Given the description of an element on the screen output the (x, y) to click on. 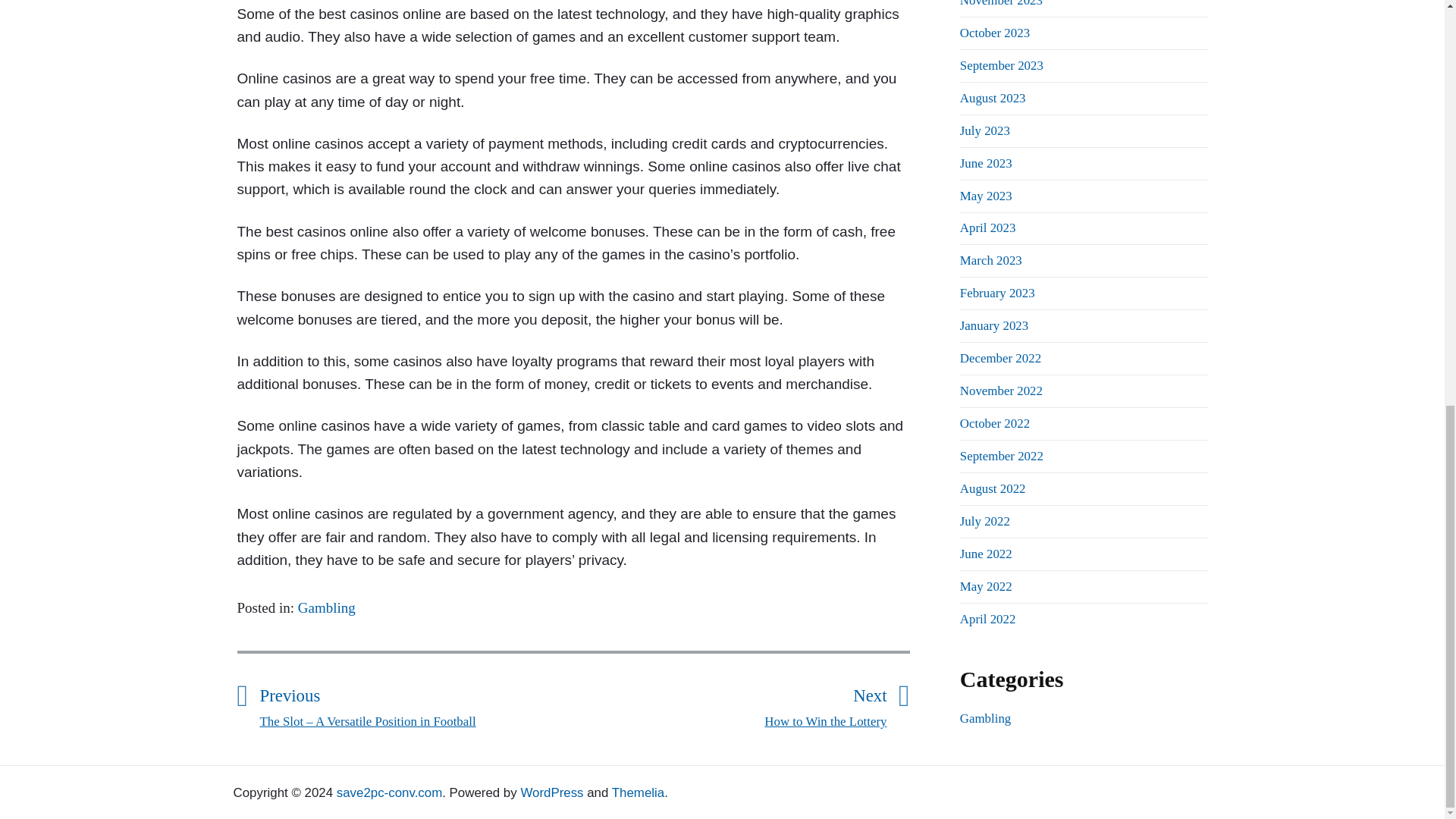
July 2022 (984, 521)
July 2023 (984, 130)
Gambling (326, 607)
August 2022 (992, 488)
August 2023 (992, 97)
June 2023 (985, 163)
November 2023 (1000, 3)
November 2022 (1000, 391)
April 2023 (987, 227)
October 2022 (994, 423)
September 2022 (1001, 455)
January 2023 (993, 325)
October 2023 (729, 704)
February 2023 (994, 32)
